Given the description of an element on the screen output the (x, y) to click on. 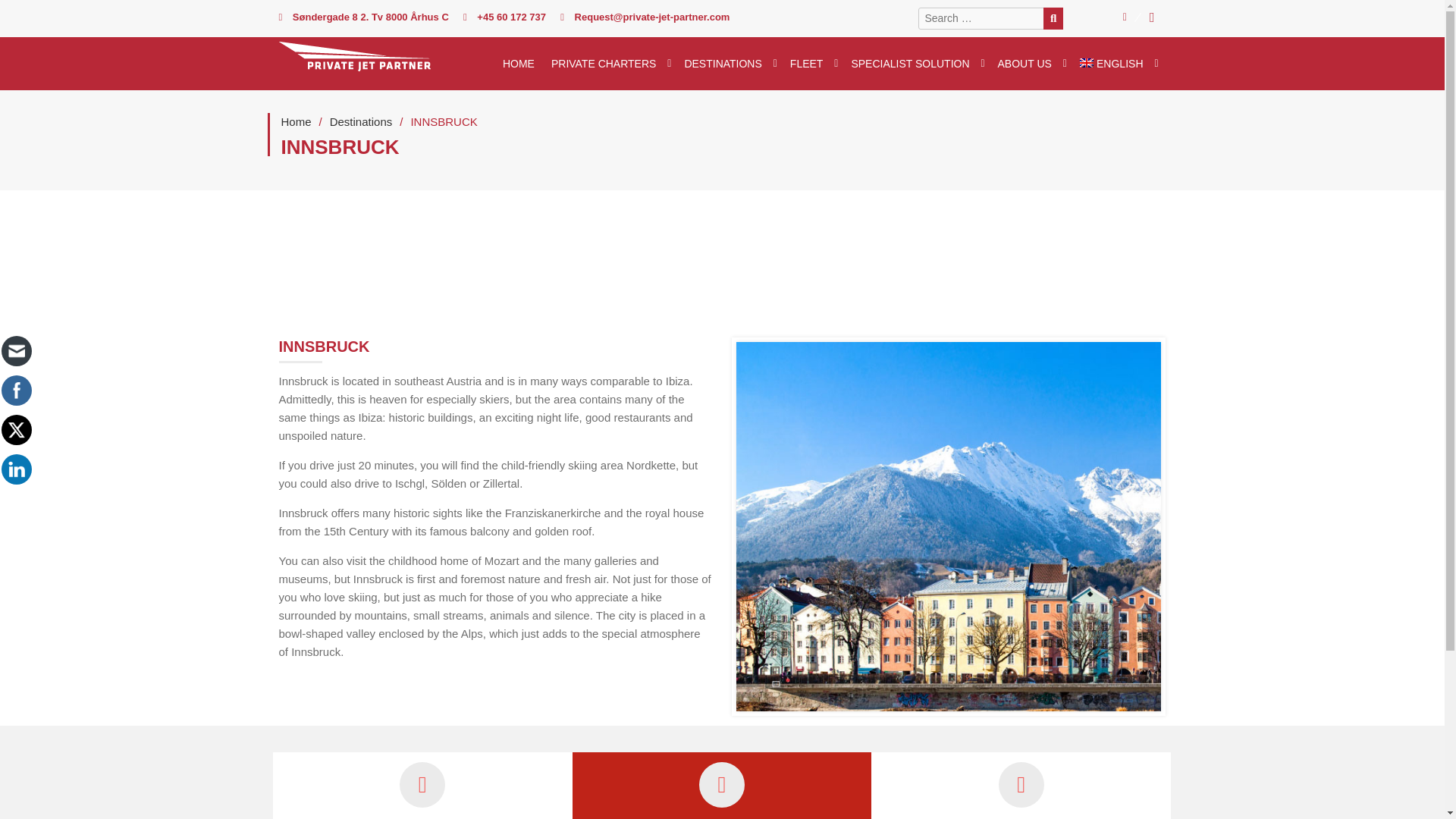
PRIVATE CHARTERS (612, 63)
DESTINATIONS (731, 63)
LinkedIn (16, 469)
Home (296, 121)
Follow by Email (16, 351)
ABOUT US (1033, 63)
HOME (521, 63)
FLEET (814, 63)
ENGLISH (1120, 63)
Facebook (16, 390)
